Given the description of an element on the screen output the (x, y) to click on. 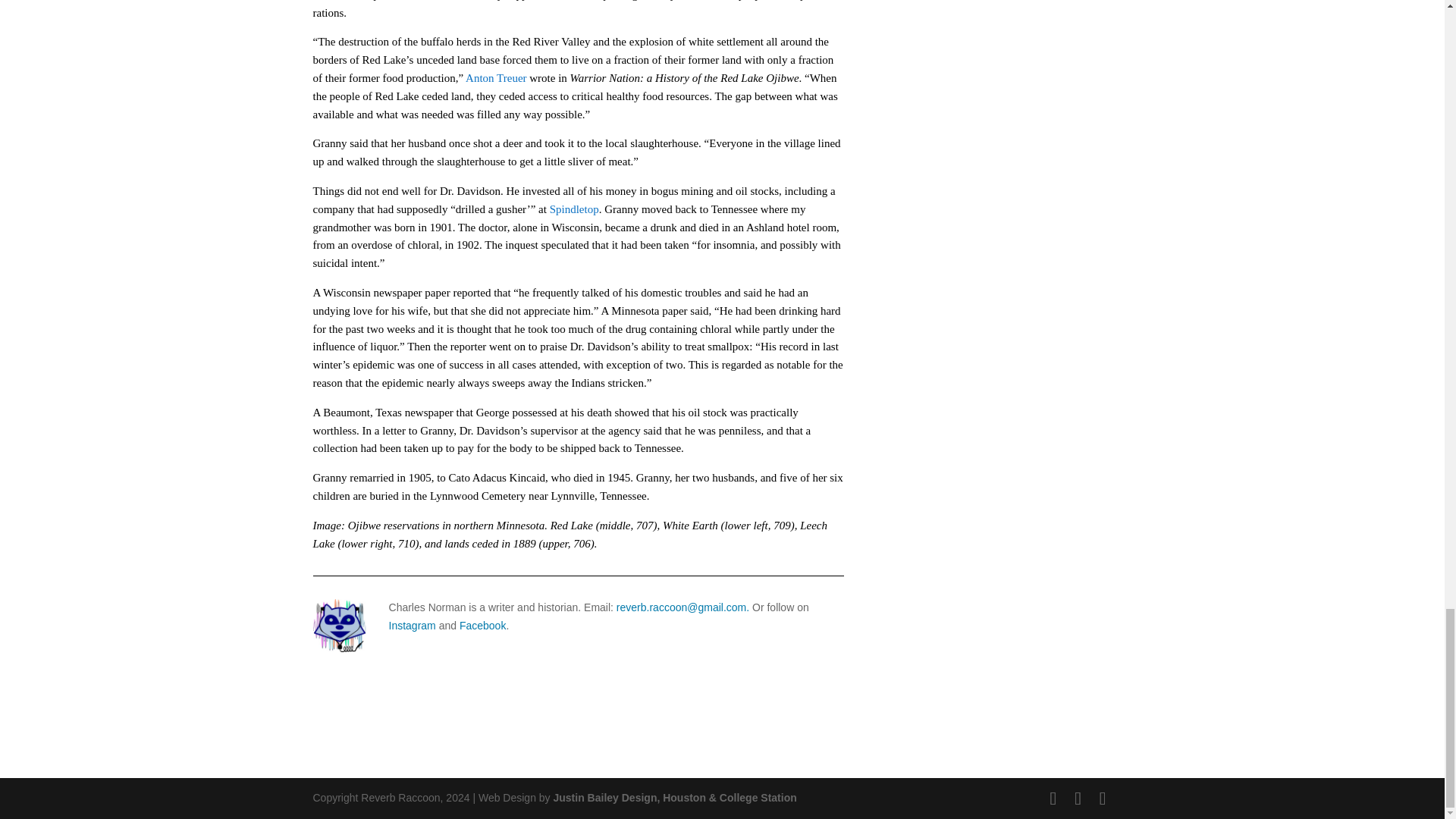
Anton Treuer (495, 78)
Spindletop (574, 209)
Facebook (482, 625)
Instagram (411, 625)
